Given the description of an element on the screen output the (x, y) to click on. 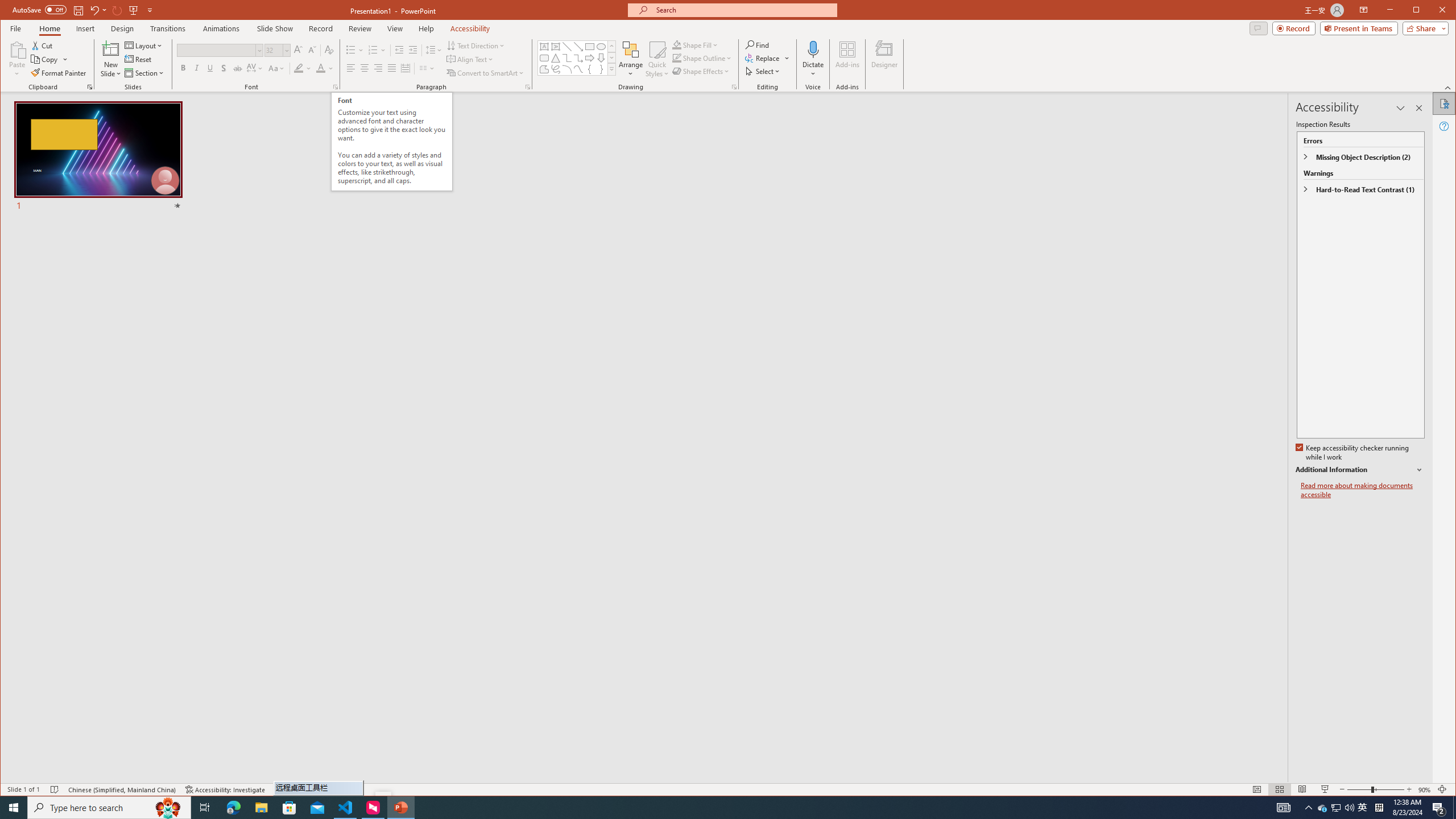
Microsoft Edge (233, 807)
Shape Fill Orange, Accent 2 (676, 44)
Read more about making documents accessible (1362, 489)
Zoom 90% (1424, 789)
